Given the description of an element on the screen output the (x, y) to click on. 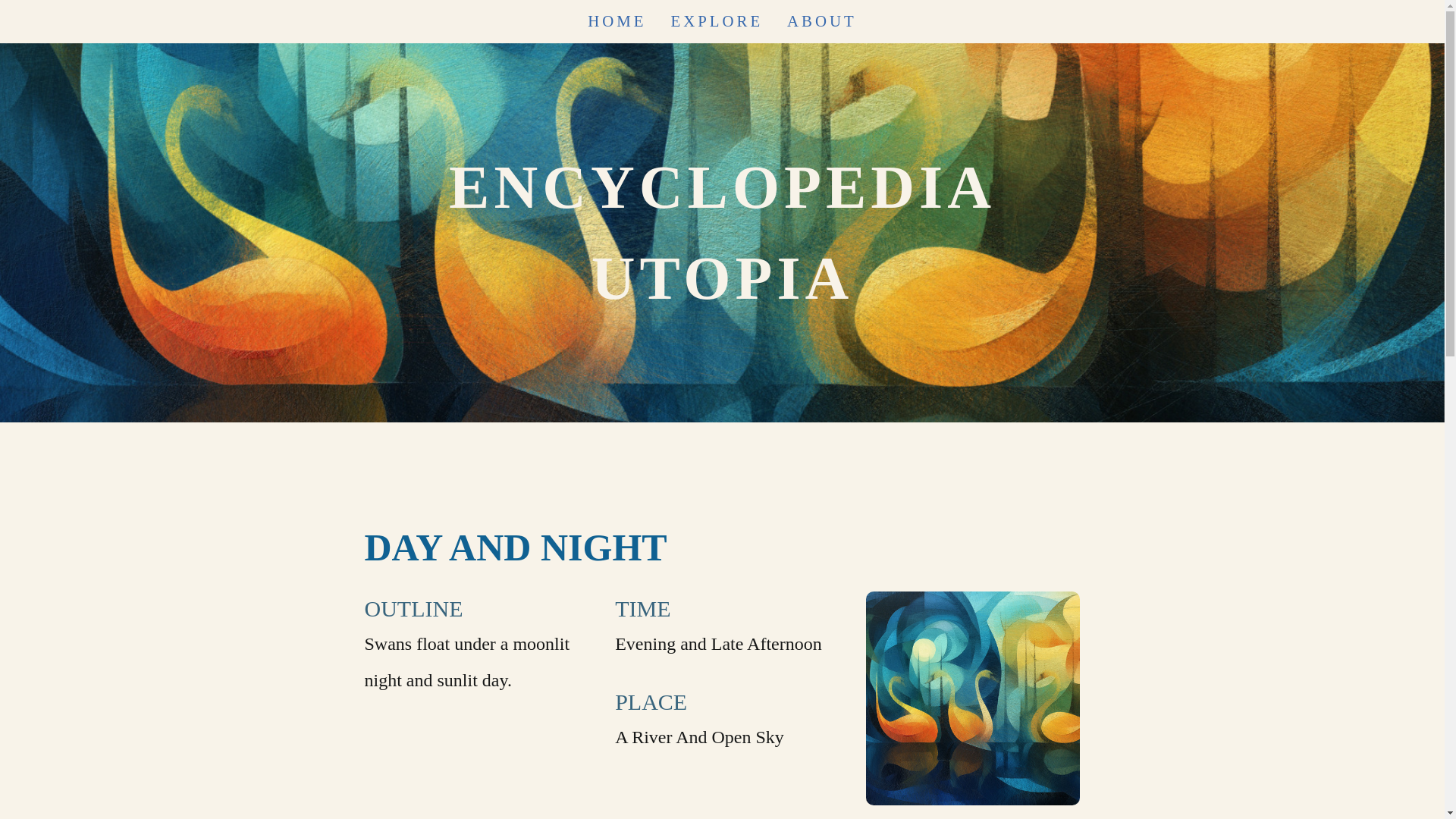
EXPLORE (715, 21)
ABOUT (822, 21)
HOME (617, 21)
